Given the description of an element on the screen output the (x, y) to click on. 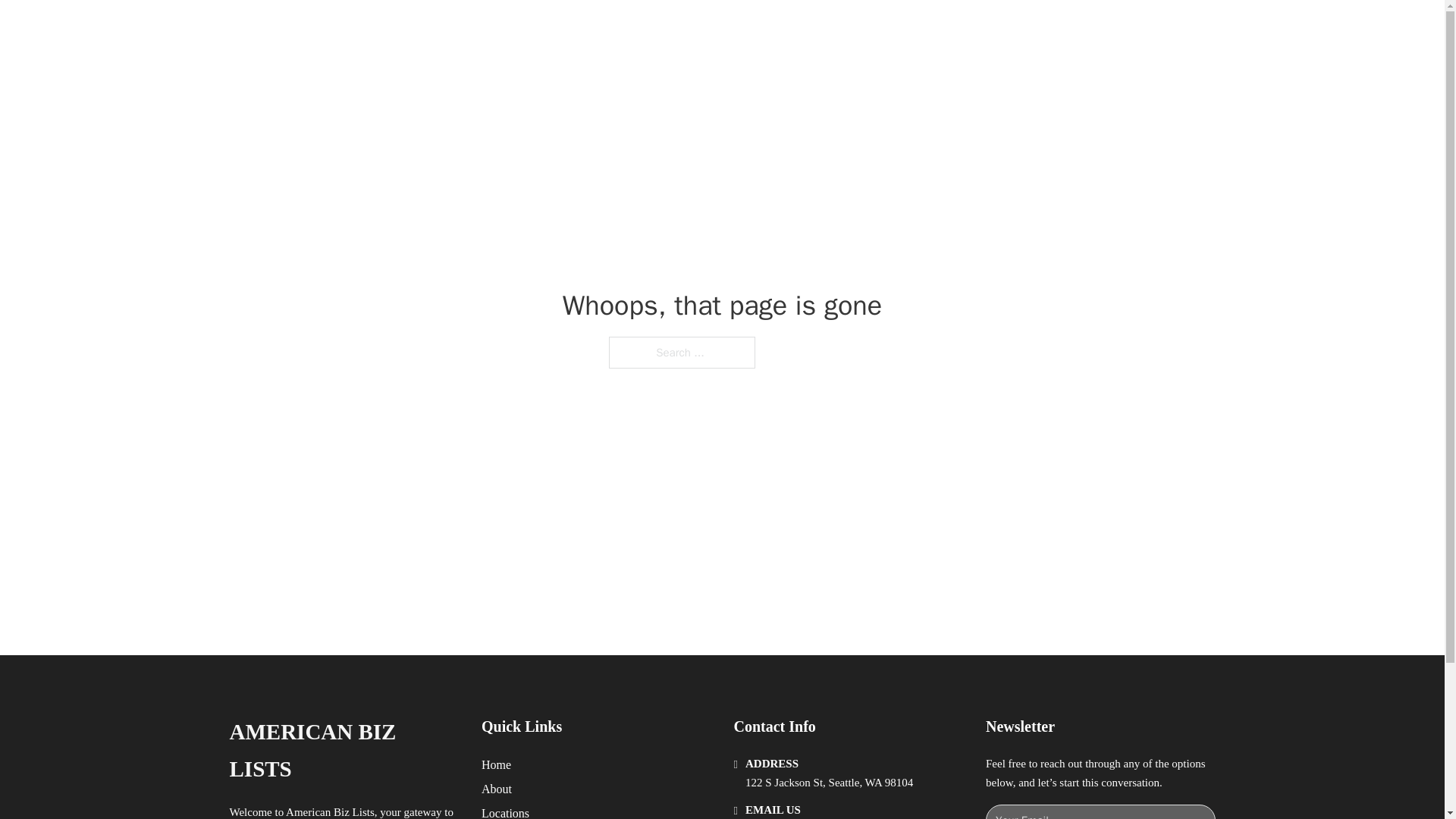
About (496, 788)
Home (496, 764)
HOME (919, 29)
AMERICAN BIZ LISTS (343, 750)
Locations (505, 811)
AMERICAN BIZ LISTS (414, 28)
LOCATIONS (990, 29)
